Given the description of an element on the screen output the (x, y) to click on. 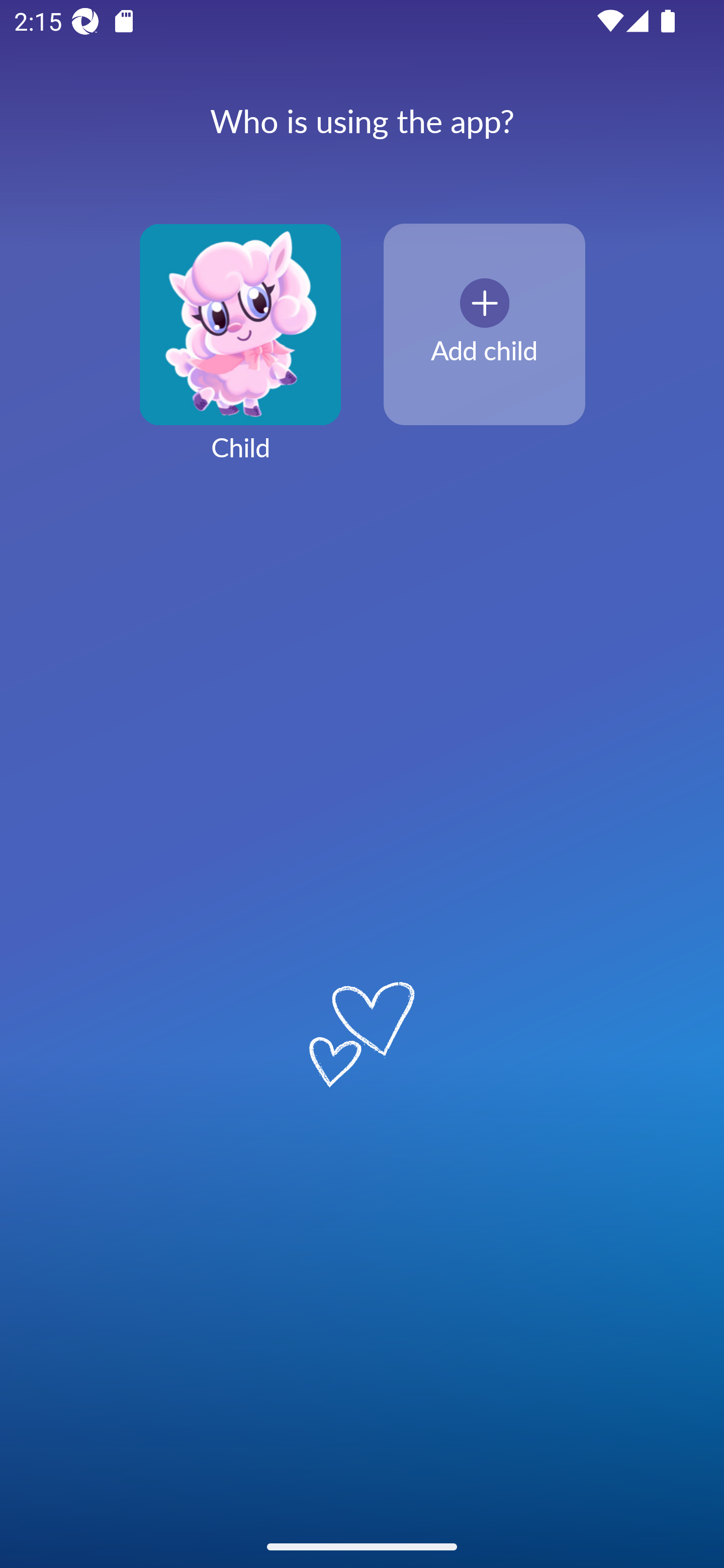
Child (240, 354)
Add child (483, 324)
